Given the description of an element on the screen output the (x, y) to click on. 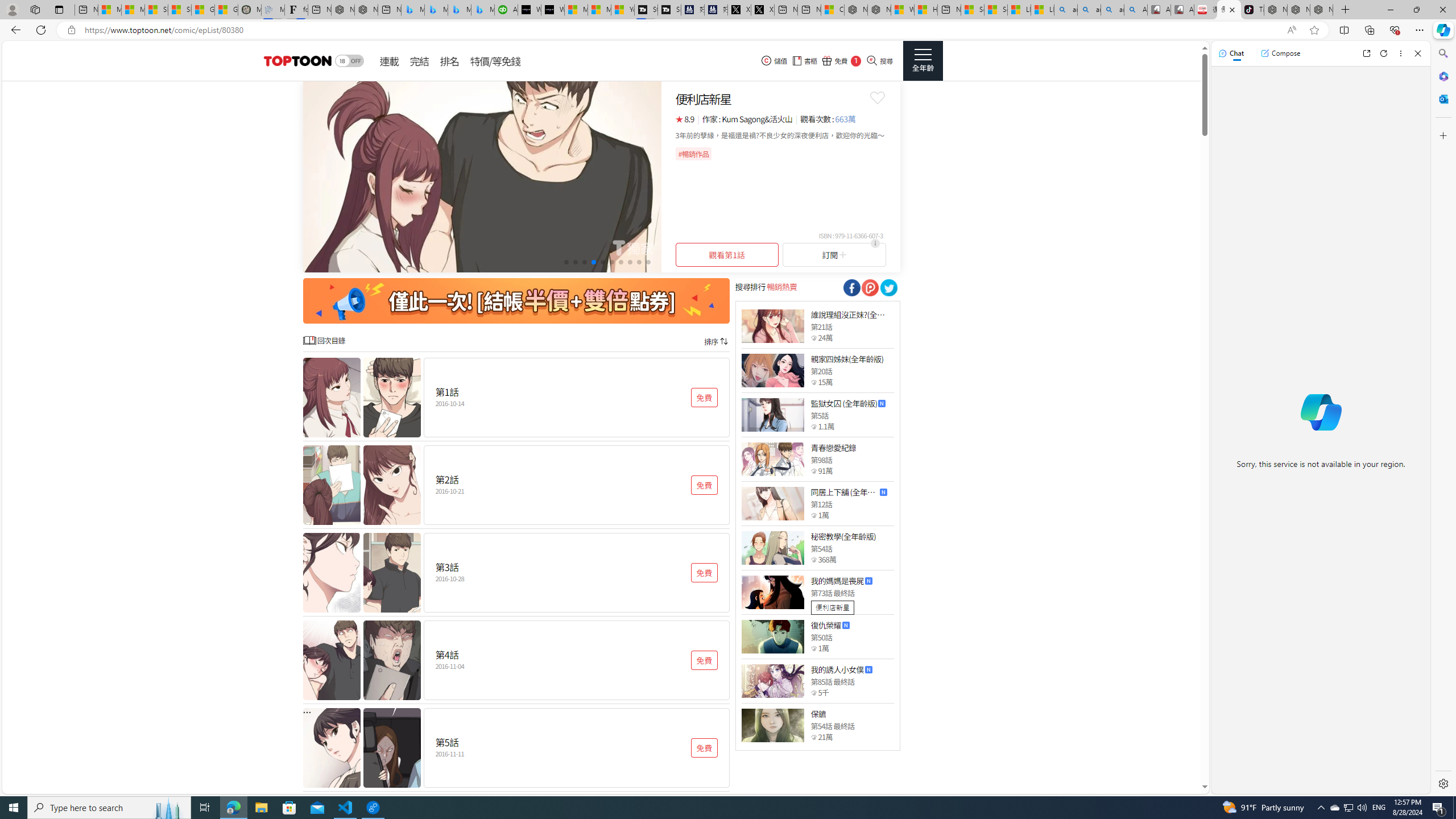
Chat (1231, 52)
Customize (1442, 135)
